Given the description of an element on the screen output the (x, y) to click on. 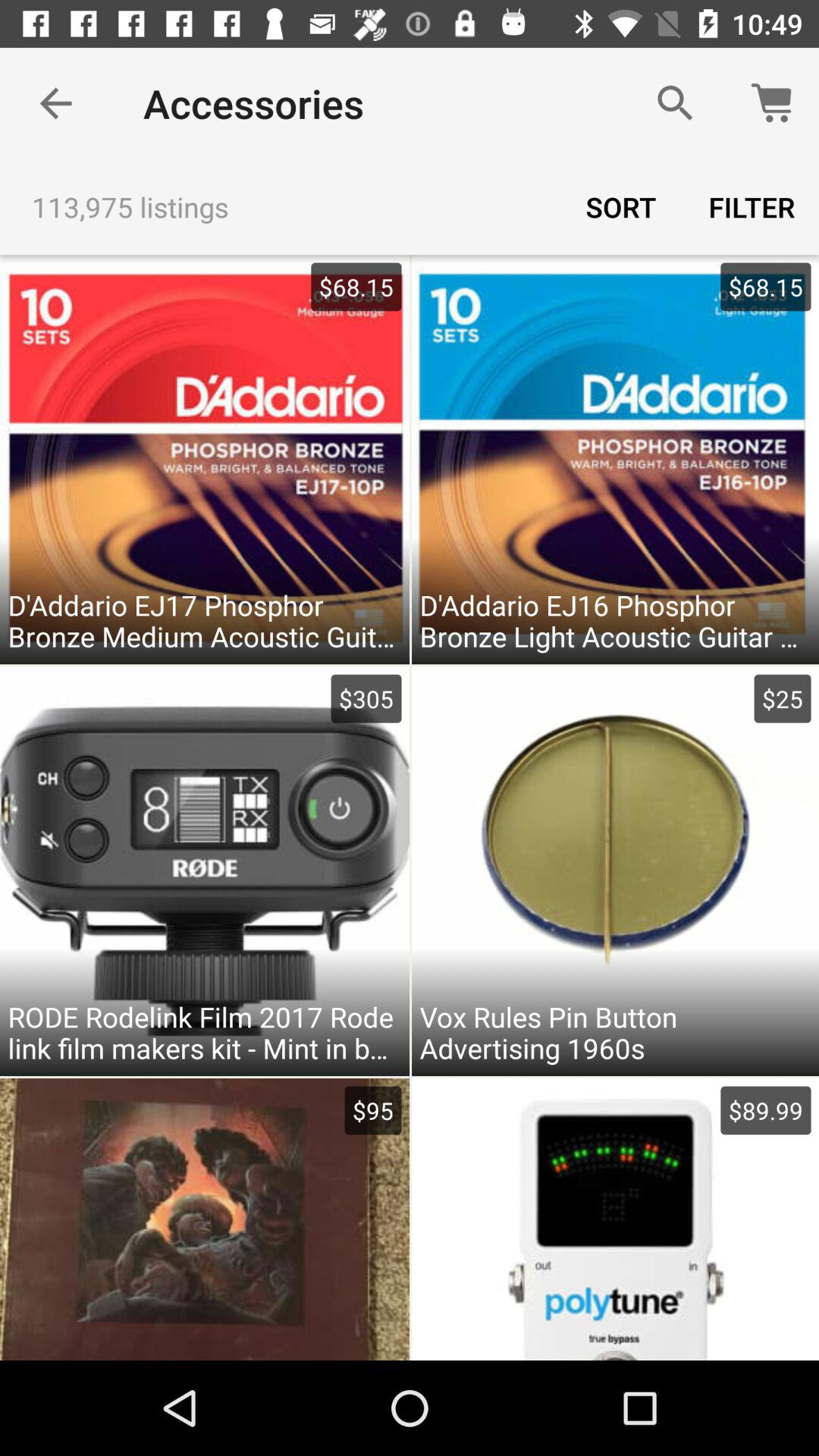
turn off item to the right of the sort item (751, 206)
